Given the description of an element on the screen output the (x, y) to click on. 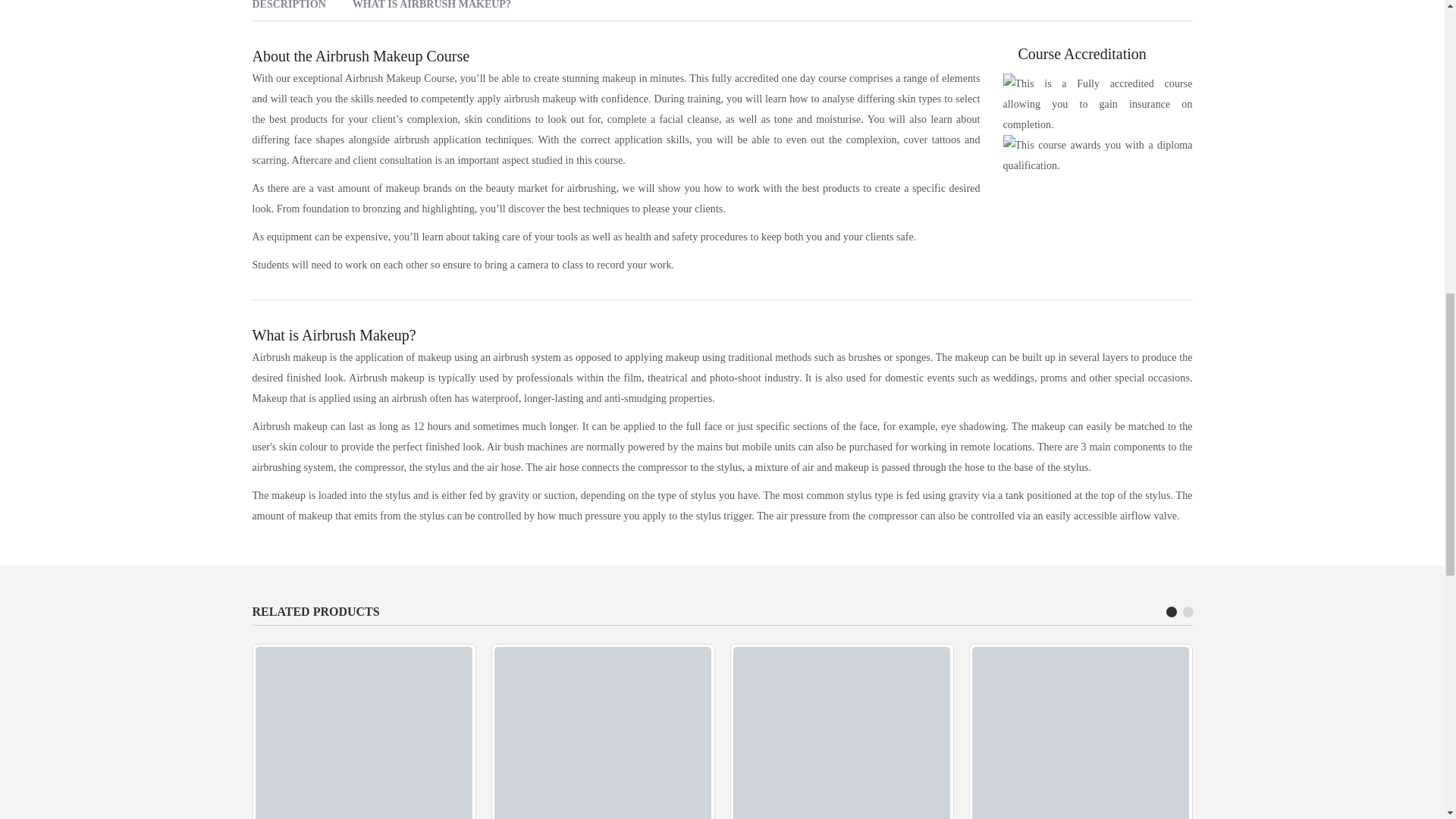
This course awards you with a diploma qualification. (1097, 155)
